Given the description of an element on the screen output the (x, y) to click on. 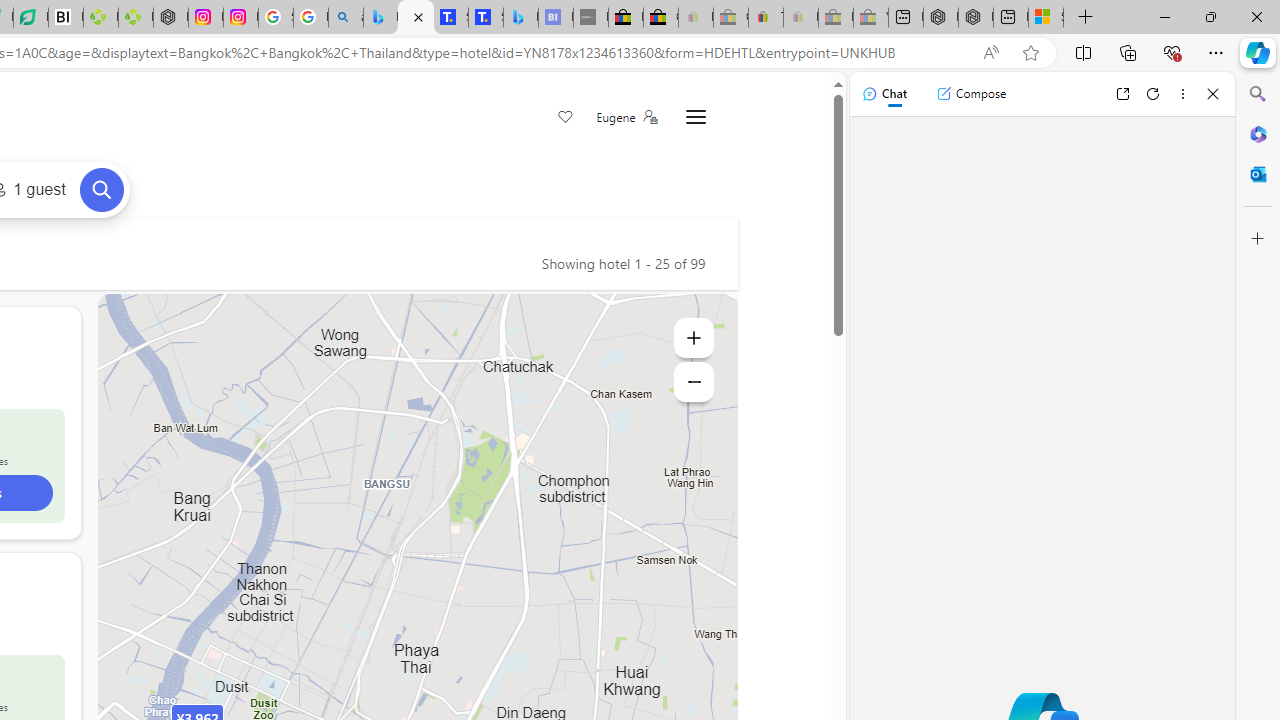
Open link in new tab (1122, 93)
Microsoft Bing Travel - Shangri-La Hotel Bangkok (520, 17)
LendingTree - Compare Lenders (31, 17)
Save (565, 118)
Nvidia va a poner a prueba la paciencia de los inversores (65, 17)
Threats and offensive language policy | eBay (765, 17)
Save (565, 118)
